Given the description of an element on the screen output the (x, y) to click on. 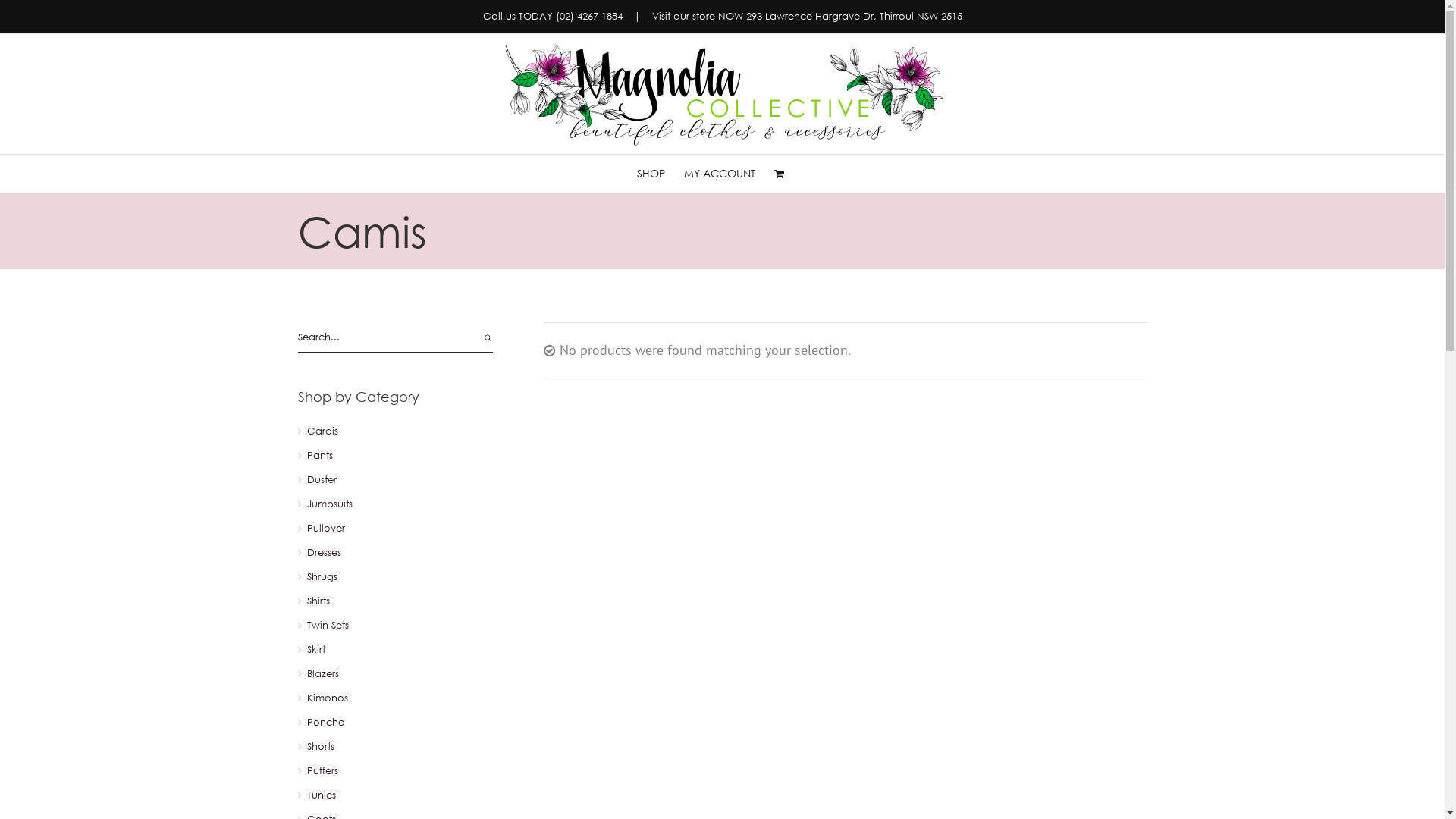
Blazers Element type: text (322, 674)
Pants Element type: text (319, 455)
Pullover Element type: text (325, 528)
Cardis Element type: text (321, 431)
Shirts Element type: text (317, 601)
Skirt Element type: text (315, 649)
Duster Element type: text (320, 479)
Shorts Element type: text (319, 746)
Dresses Element type: text (323, 552)
Kimonos Element type: text (326, 698)
Tunics Element type: text (320, 795)
Log In Element type: text (797, 310)
SHOP Element type: text (651, 173)
(02) 4267 1884 Element type: text (588, 15)
Twin Sets Element type: text (327, 625)
Shrugs Element type: text (321, 576)
Jumpsuits Element type: text (328, 504)
MY ACCOUNT Element type: text (719, 173)
Poncho Element type: text (325, 722)
Puffers Element type: text (321, 771)
